Given the description of an element on the screen output the (x, y) to click on. 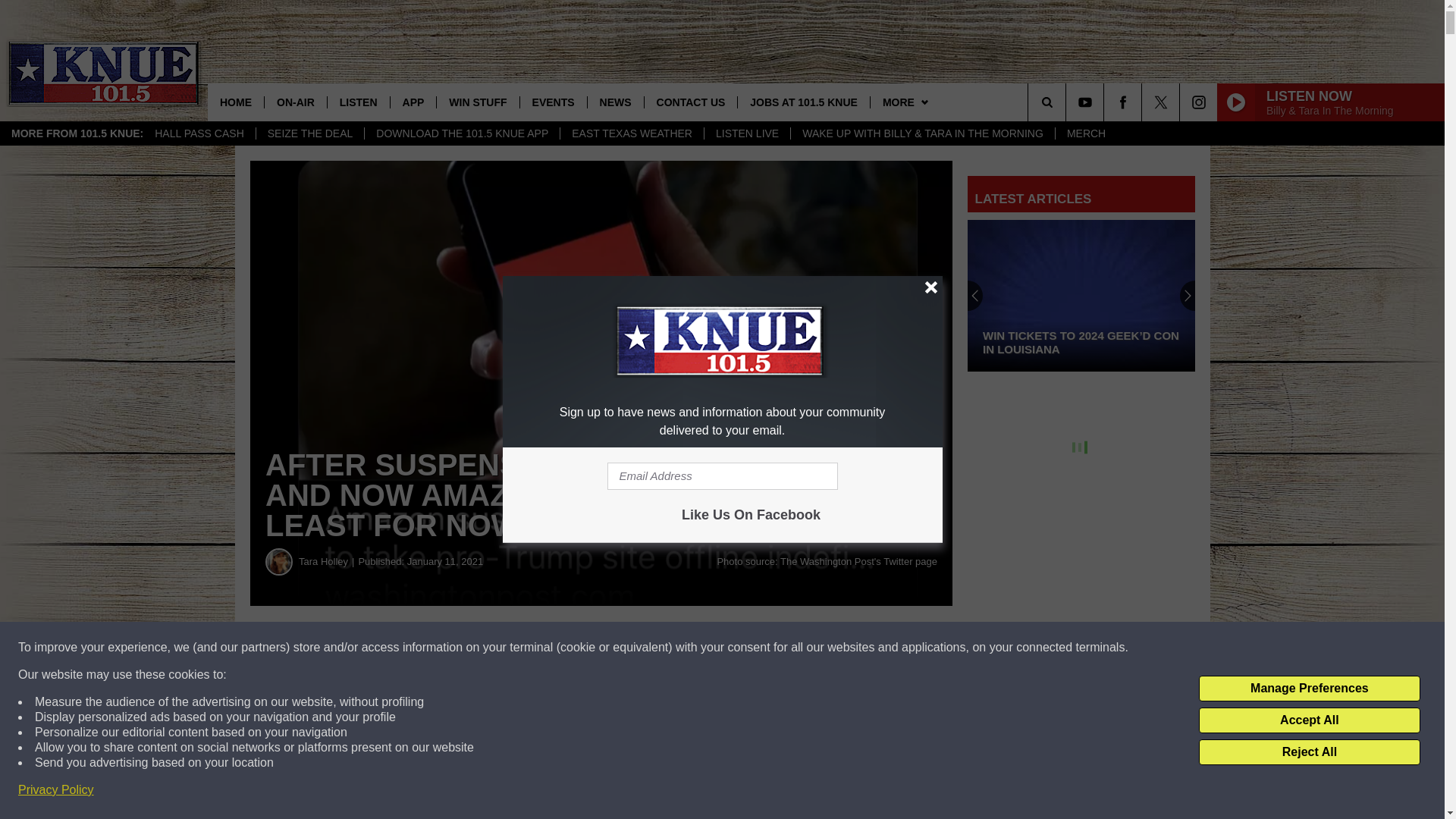
Email Address (722, 475)
SEIZE THE DEAL (310, 133)
EAST TEXAS WEATHER (631, 133)
Share on Twitter (741, 647)
APP (413, 102)
LISTEN (358, 102)
Share on Facebook (460, 647)
ON-AIR (294, 102)
Manage Preferences (1309, 688)
SEARCH (1068, 102)
Reject All (1309, 751)
Privacy Policy (55, 789)
HALL PASS CASH (199, 133)
HOME (235, 102)
LISTEN LIVE (746, 133)
